Given the description of an element on the screen output the (x, y) to click on. 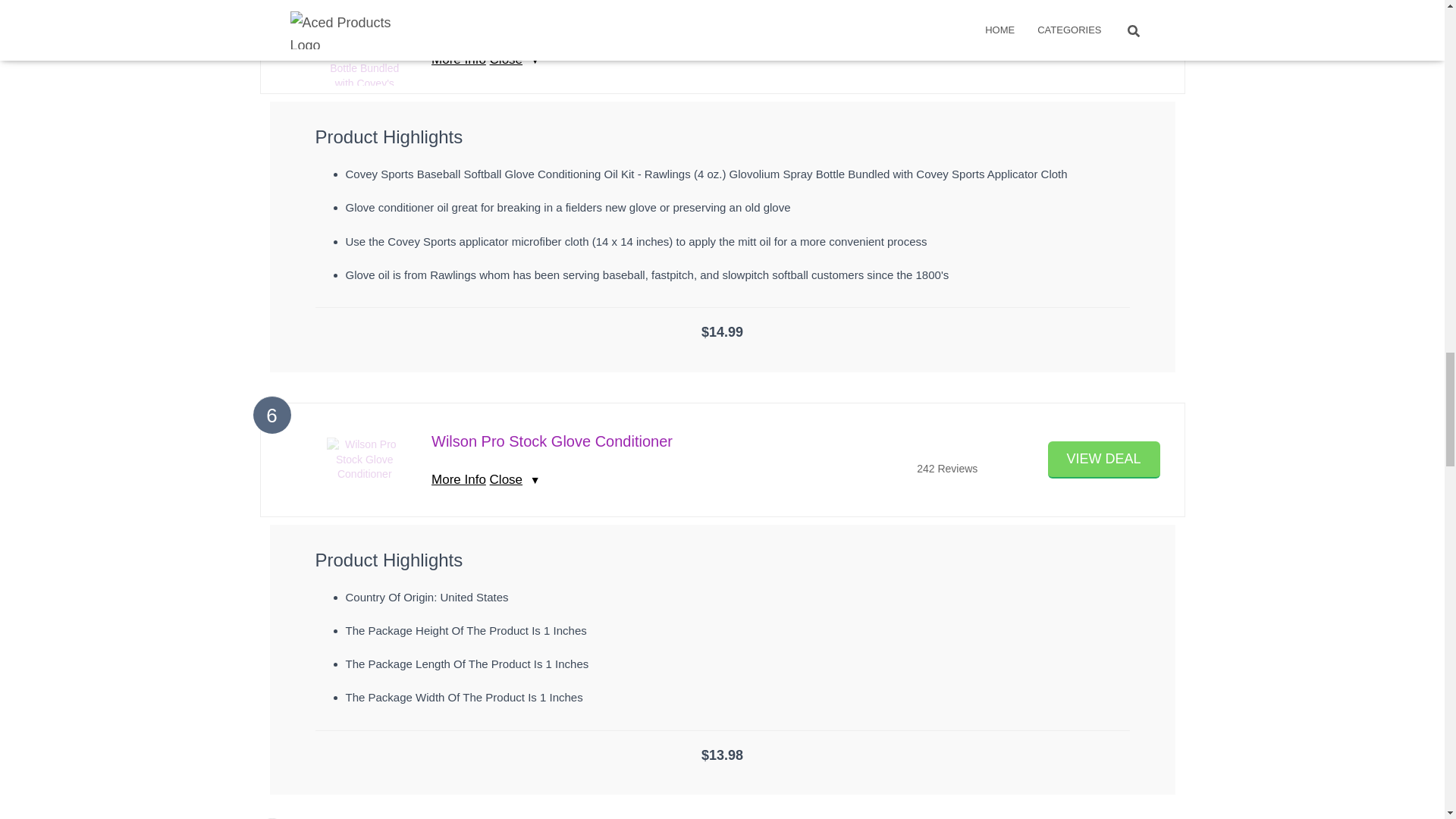
VIEW DEAL (1104, 459)
VIEW DEAL (1104, 28)
Wilson Pro Stock Glove Conditioner (551, 441)
